Given the description of an element on the screen output the (x, y) to click on. 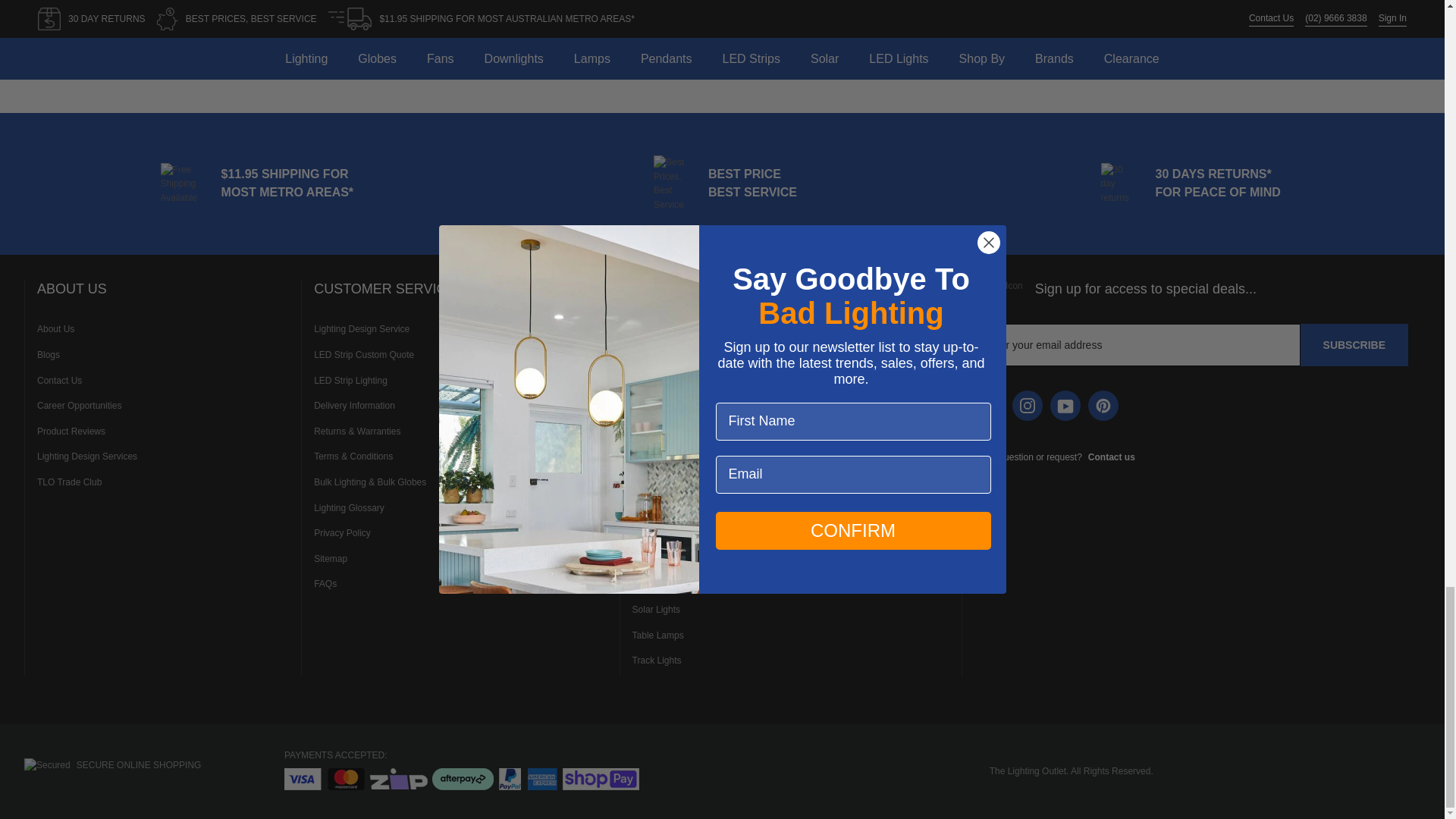
Pinterest (1102, 405)
Youtube (1064, 405)
Subscribe (1353, 344)
Subscribe (1353, 344)
Facebook (989, 405)
Instagram (1026, 405)
